Given the description of an element on the screen output the (x, y) to click on. 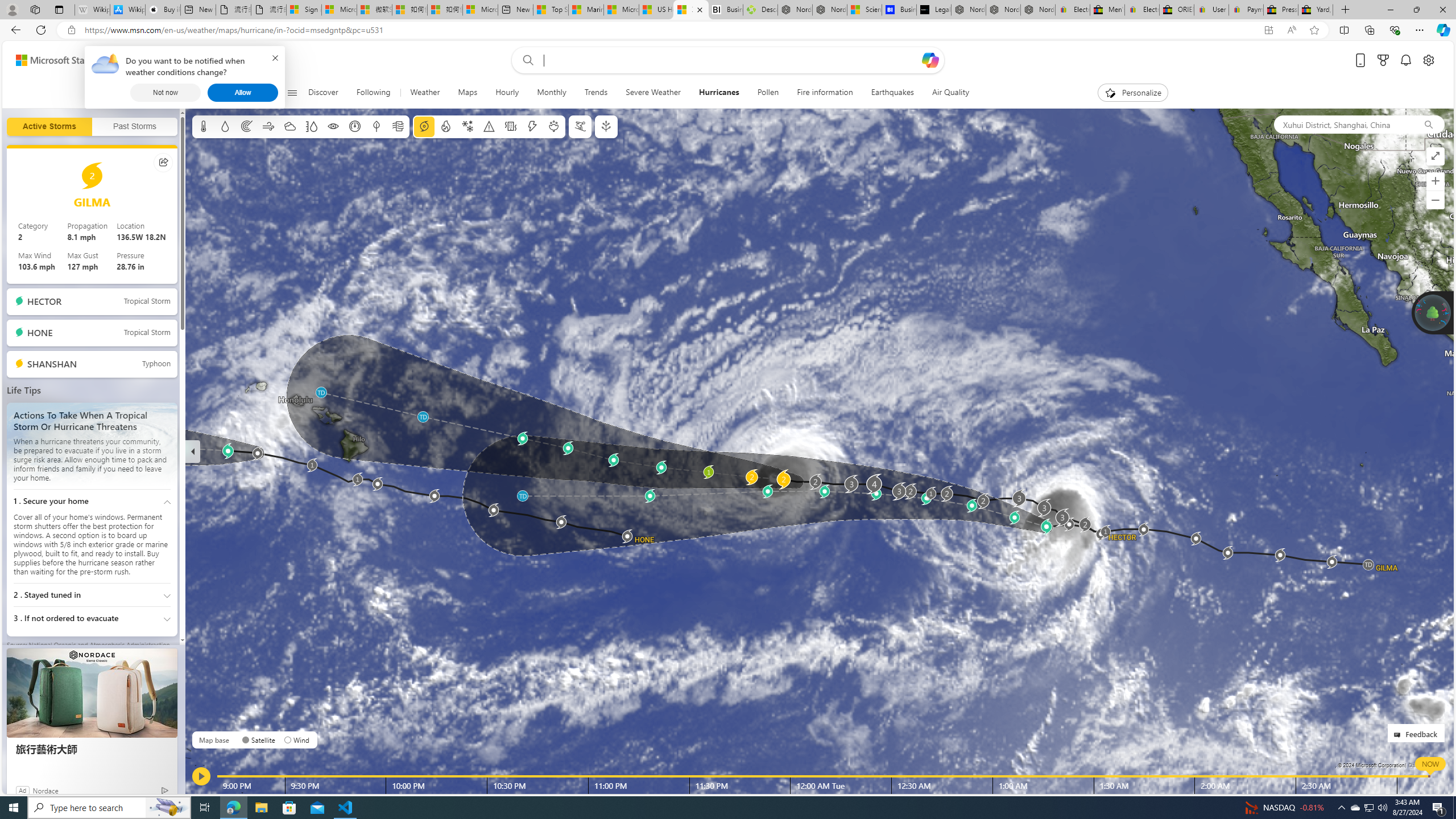
Maps (467, 92)
Visibility (333, 126)
Data Providers (1424, 765)
Air quality (397, 126)
SHANSHAN Typhoon (92, 363)
